Given the description of an element on the screen output the (x, y) to click on. 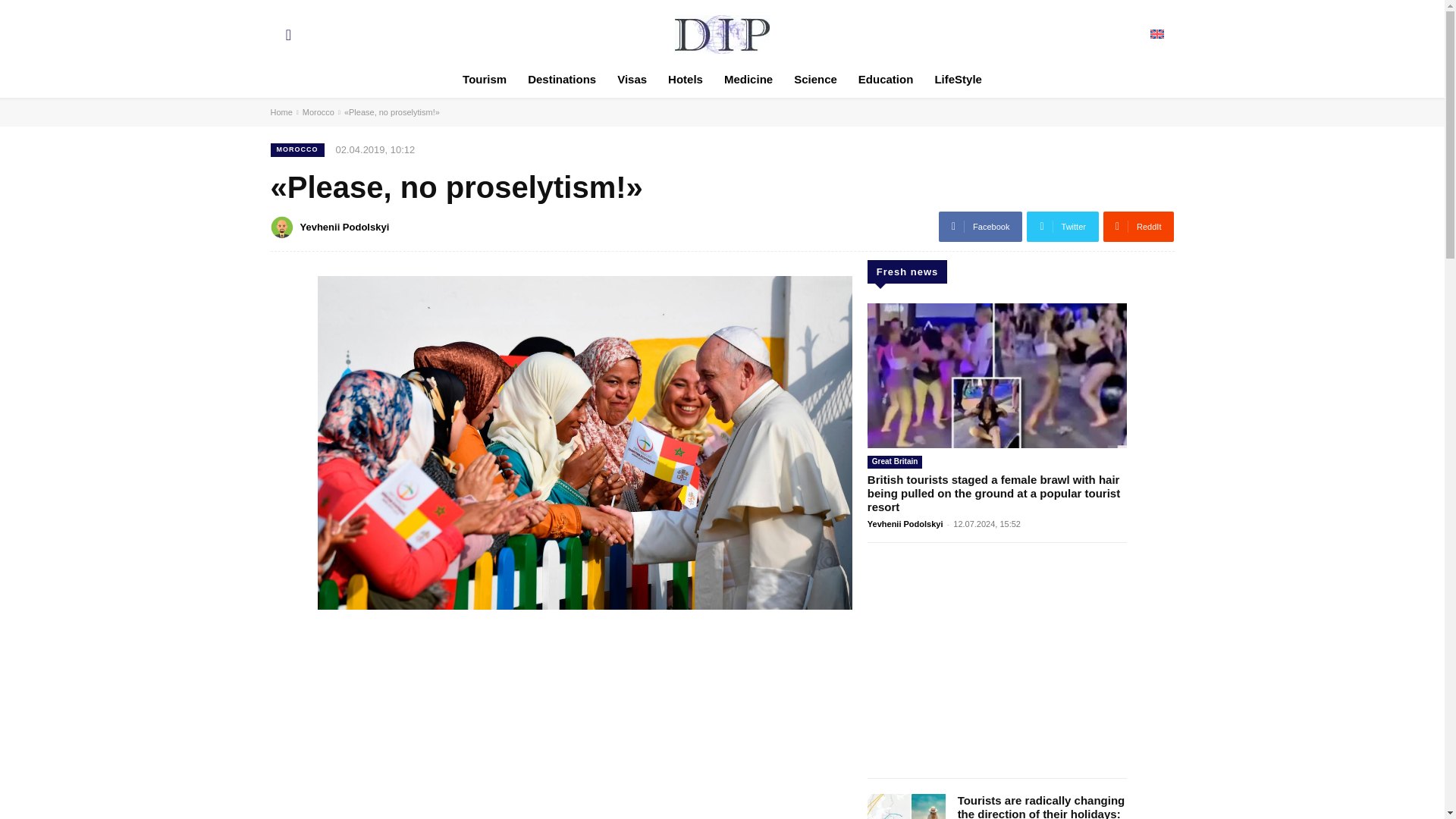
Destinations (561, 79)
Yevhenii Podolskyi (283, 227)
MOROCCO (296, 150)
Tourism (483, 79)
Morocco (318, 112)
Yevhenii Podolskyi (344, 227)
Twitter (1062, 226)
Home (280, 112)
Hotels (685, 79)
Facebook (980, 226)
View all posts in Morocco (318, 112)
Science (815, 79)
ReddIt (1138, 226)
Visas (632, 79)
ReddIt (1138, 226)
